Given the description of an element on the screen output the (x, y) to click on. 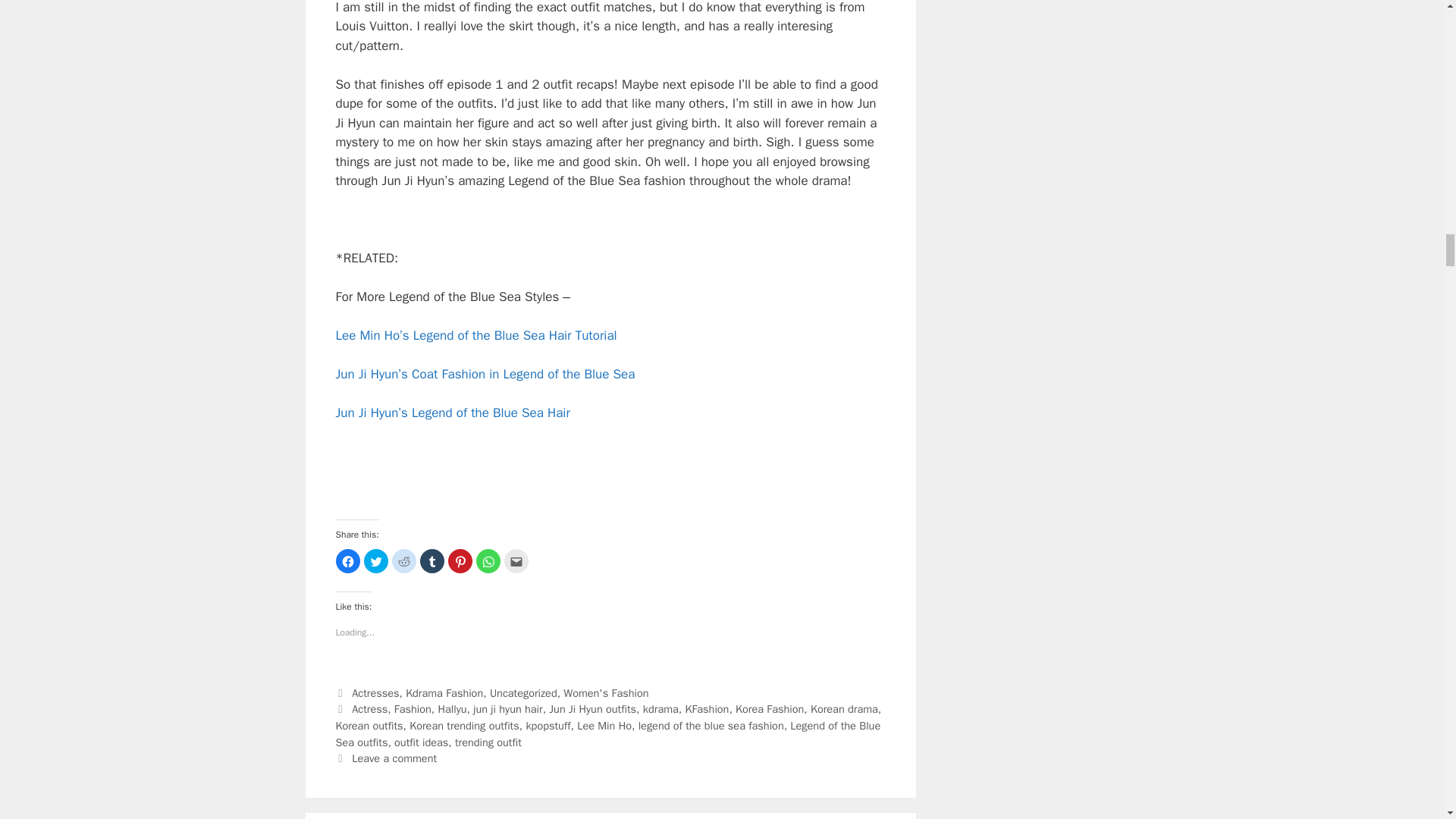
Click to email this to a friend (515, 560)
Click to share on Pinterest (458, 560)
Click to share on Reddit (402, 560)
Click to share on Twitter (376, 560)
Click to share on Tumblr (432, 560)
Click to share on Facebook (346, 560)
Click to share on WhatsApp (488, 560)
